Given the description of an element on the screen output the (x, y) to click on. 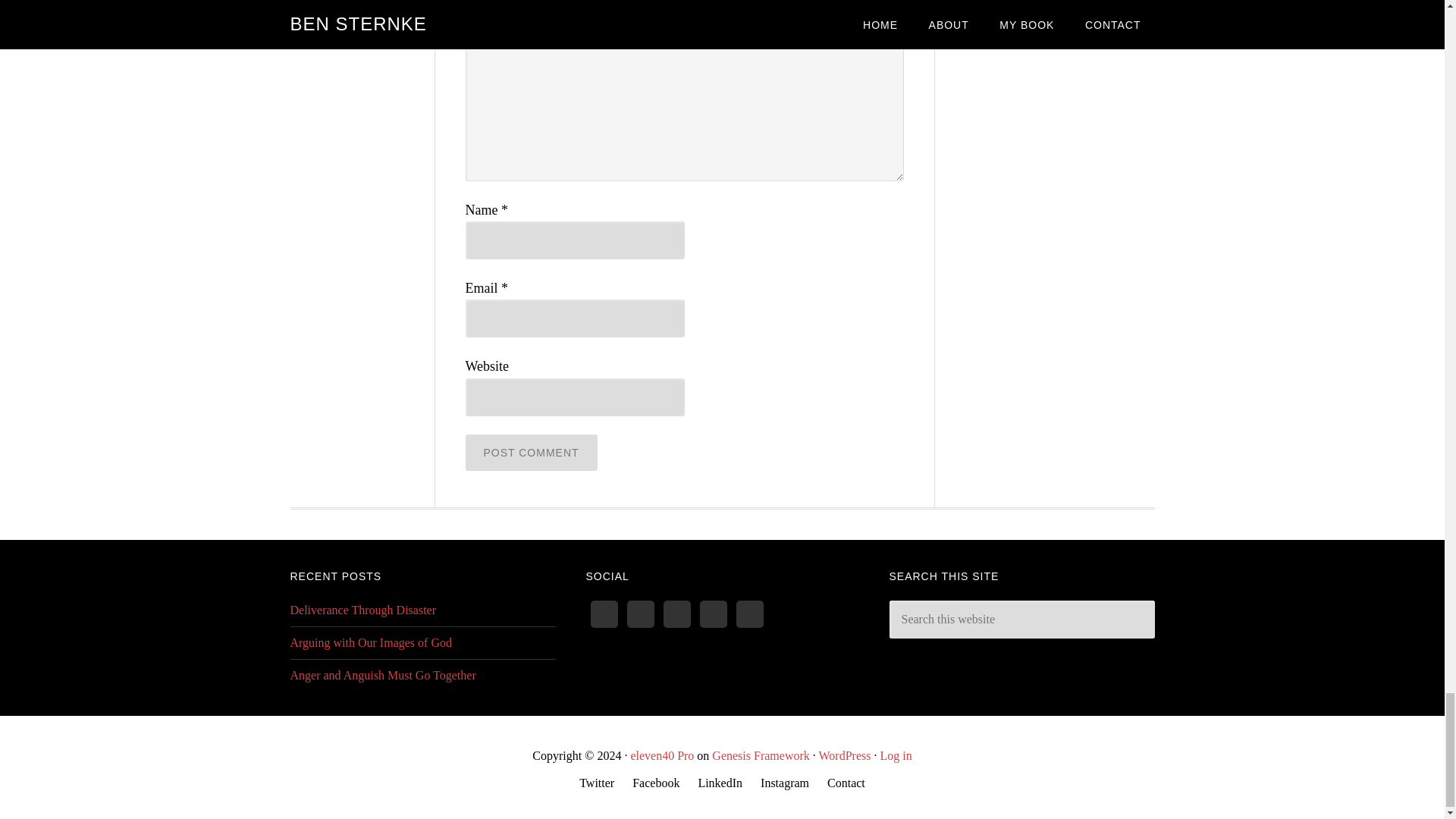
Post Comment (530, 452)
